Given the description of an element on the screen output the (x, y) to click on. 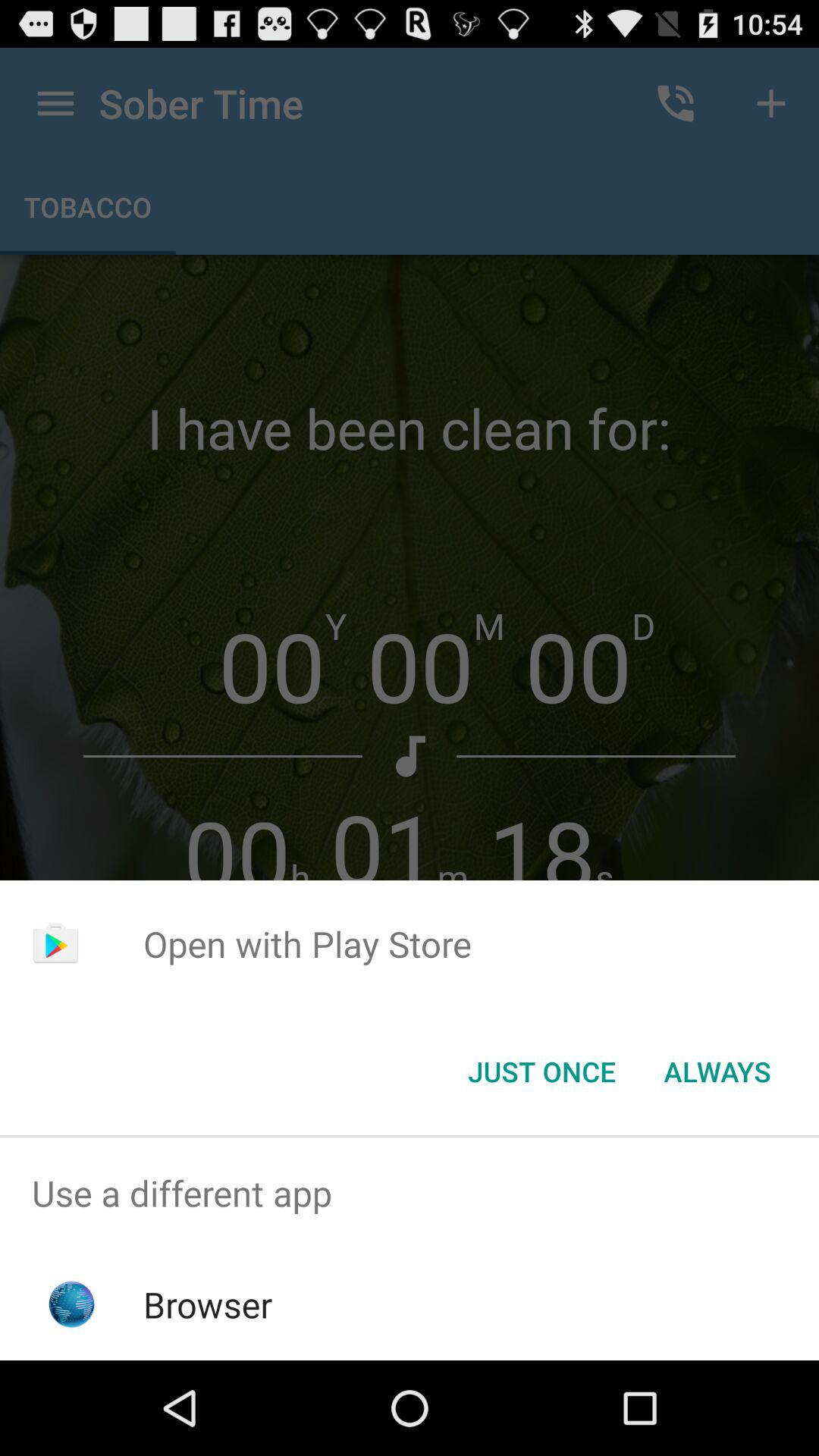
jump until the always (717, 1071)
